Given the description of an element on the screen output the (x, y) to click on. 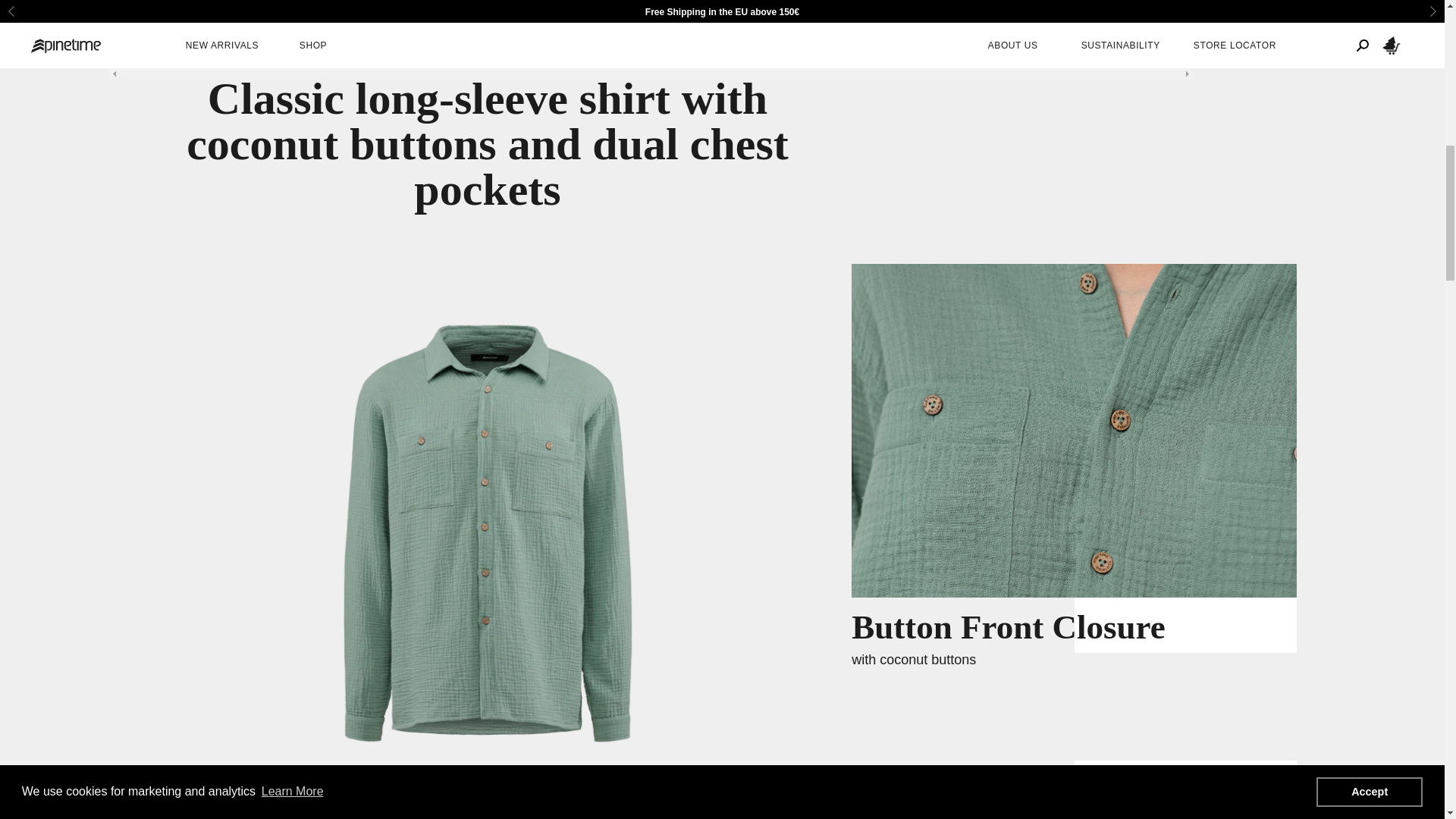
OVERVIEW (273, 2)
DETAILS (438, 4)
SHOWCASE (358, 2)
OVERVIEW (274, 4)
TECHNICAL DETAILS (537, 4)
CLEANING AND CARE (669, 4)
SHOWCASE (358, 4)
DETAILS (437, 2)
DETAILS (438, 4)
SHOWCASE (358, 4)
TECHNICAL DETAILS (536, 2)
CLEANING AND CARE (669, 4)
TECHNICAL DETAILS (537, 4)
